Given the description of an element on the screen output the (x, y) to click on. 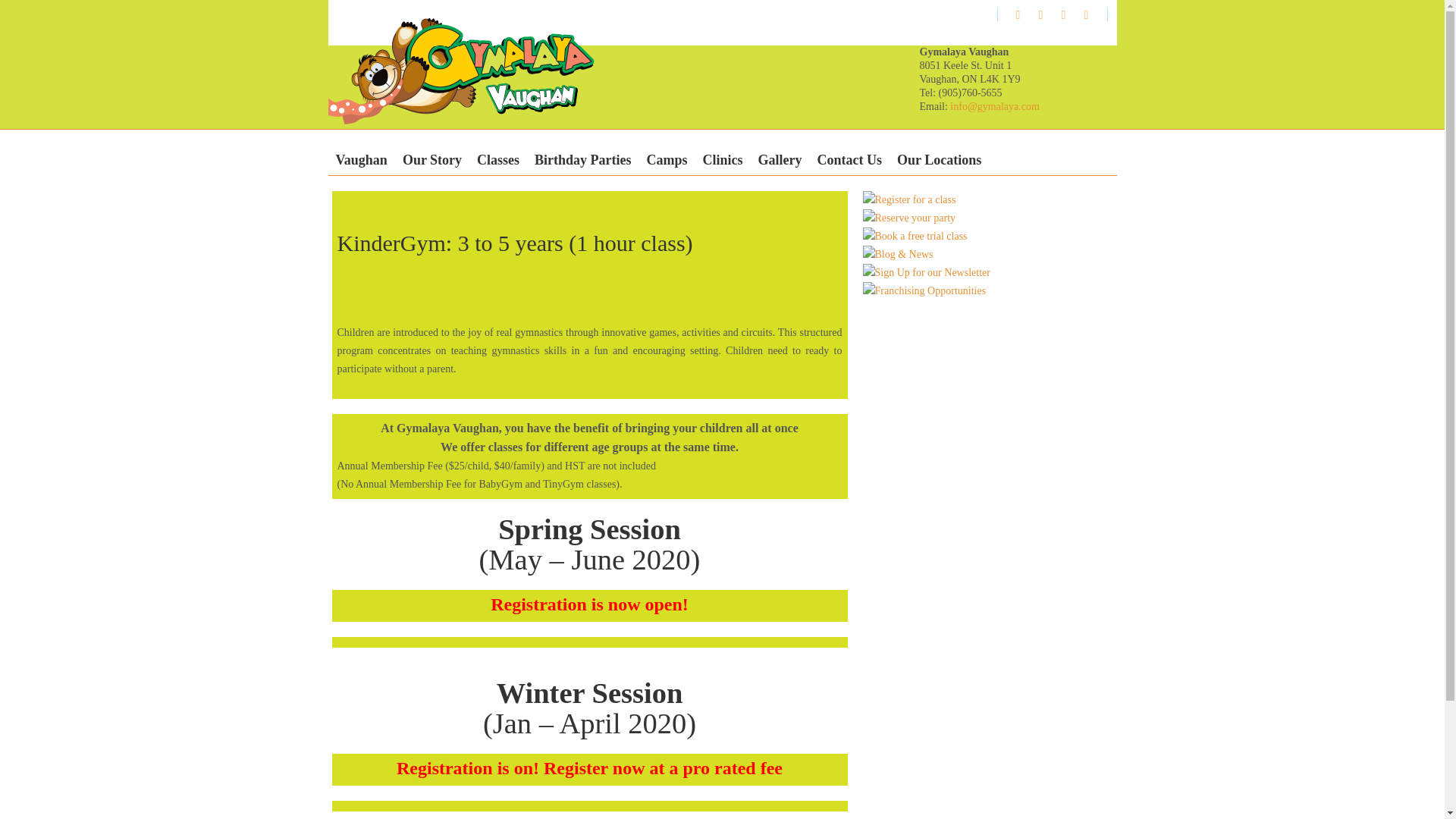
Birthday Parties (583, 159)
Classes (497, 159)
Clinics (723, 159)
Gymalaya (460, 84)
Book a free trial class (915, 236)
Franchising Opportunities (925, 290)
Contact Us (849, 159)
Register for a class (909, 199)
Vaughan (360, 159)
Our Locations (938, 159)
